Given the description of an element on the screen output the (x, y) to click on. 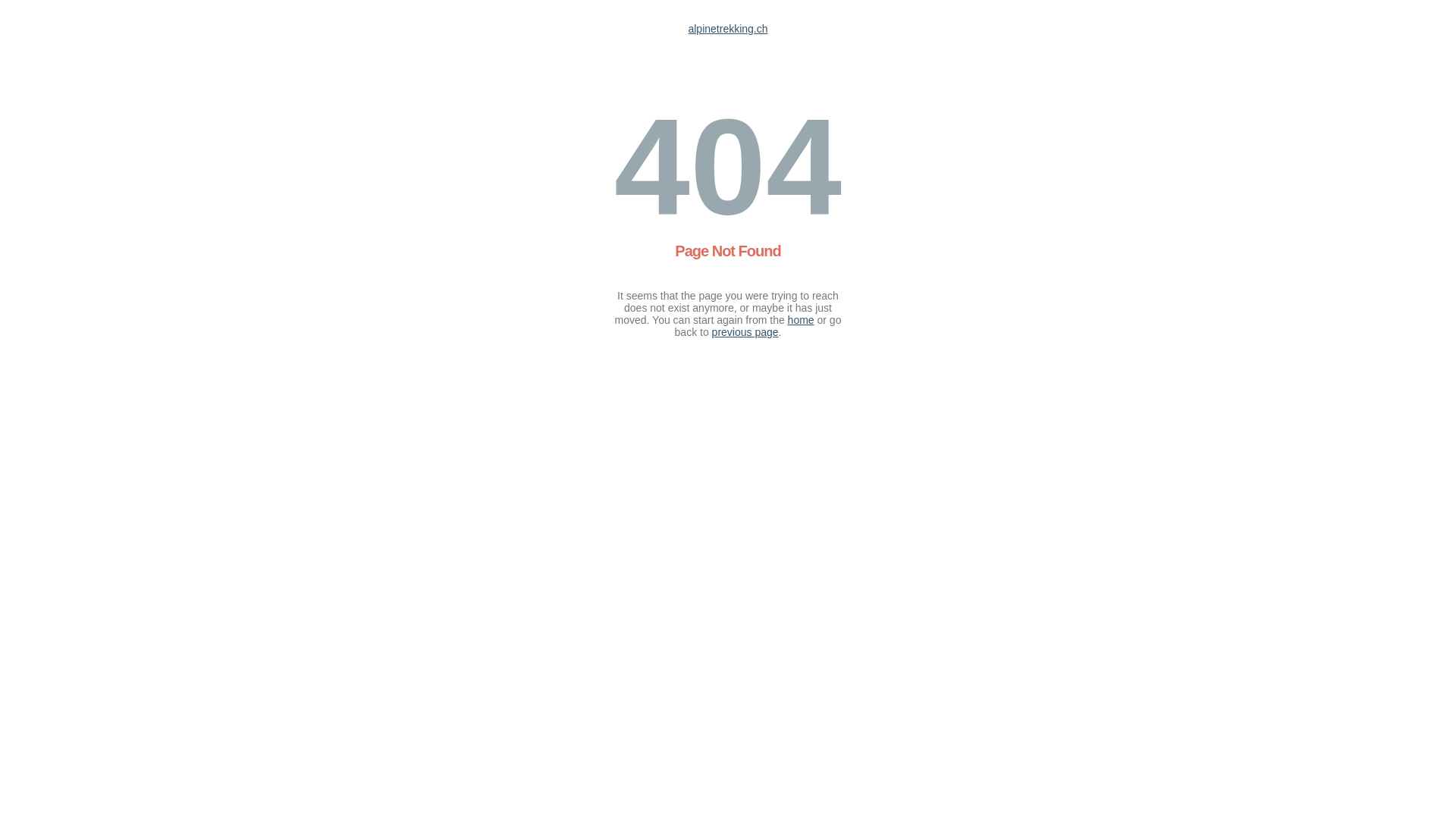
alpinetrekking.ch Element type: text (727, 28)
home Element type: text (800, 319)
previous page Element type: text (745, 332)
